Given the description of an element on the screen output the (x, y) to click on. 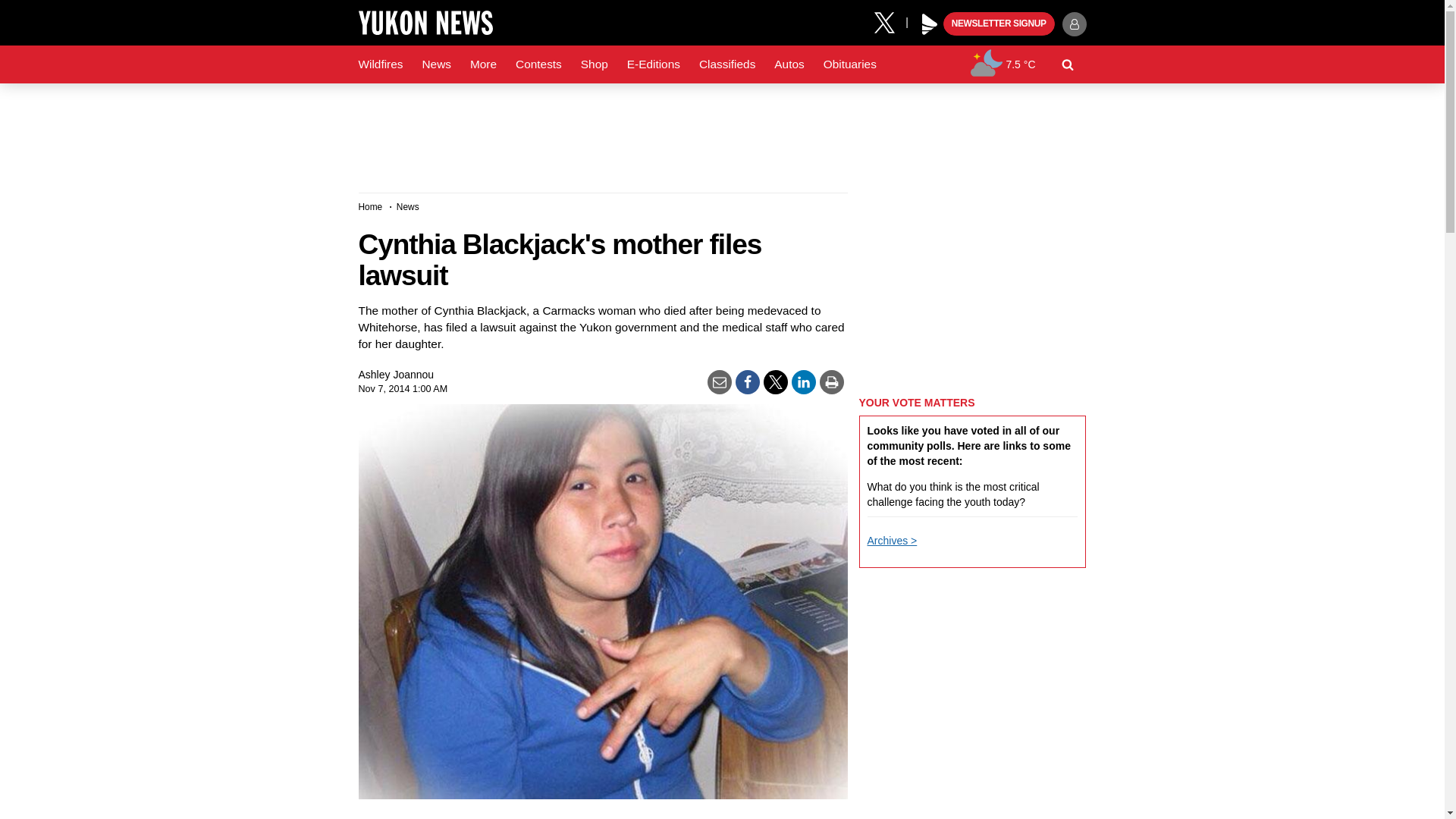
NEWSLETTER SIGNUP (998, 24)
News (435, 64)
Black Press Media (929, 24)
Play (929, 24)
X (889, 21)
Wildfires (380, 64)
